Given the description of an element on the screen output the (x, y) to click on. 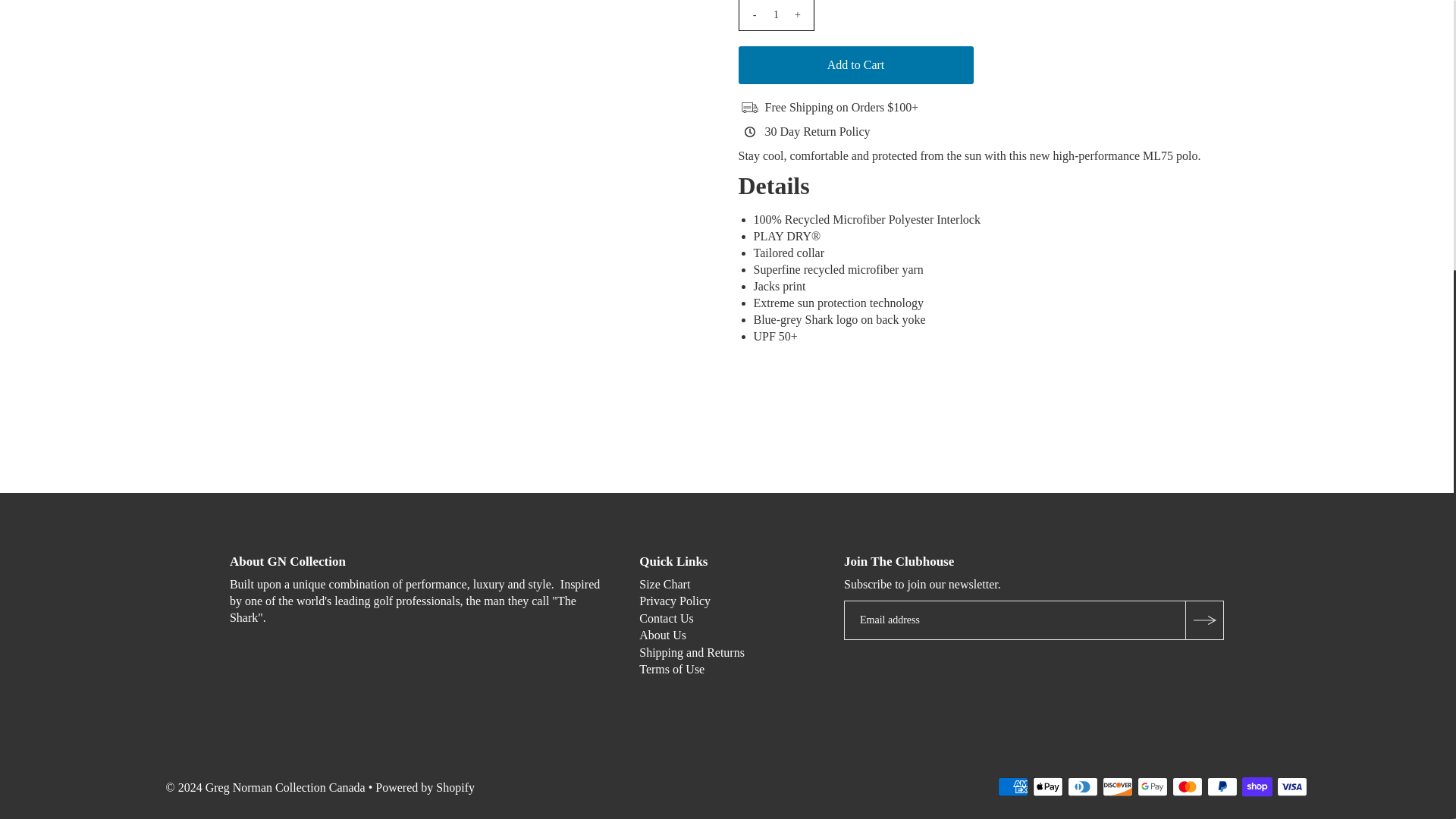
PayPal (1222, 786)
Google Pay (1152, 786)
Discover (1117, 786)
Shop Pay (1256, 786)
Add to Cart (856, 64)
Apple Pay (1047, 786)
American Express (1012, 786)
Visa (1291, 786)
Mastercard (1187, 786)
Diners Club (1082, 786)
